Given the description of an element on the screen output the (x, y) to click on. 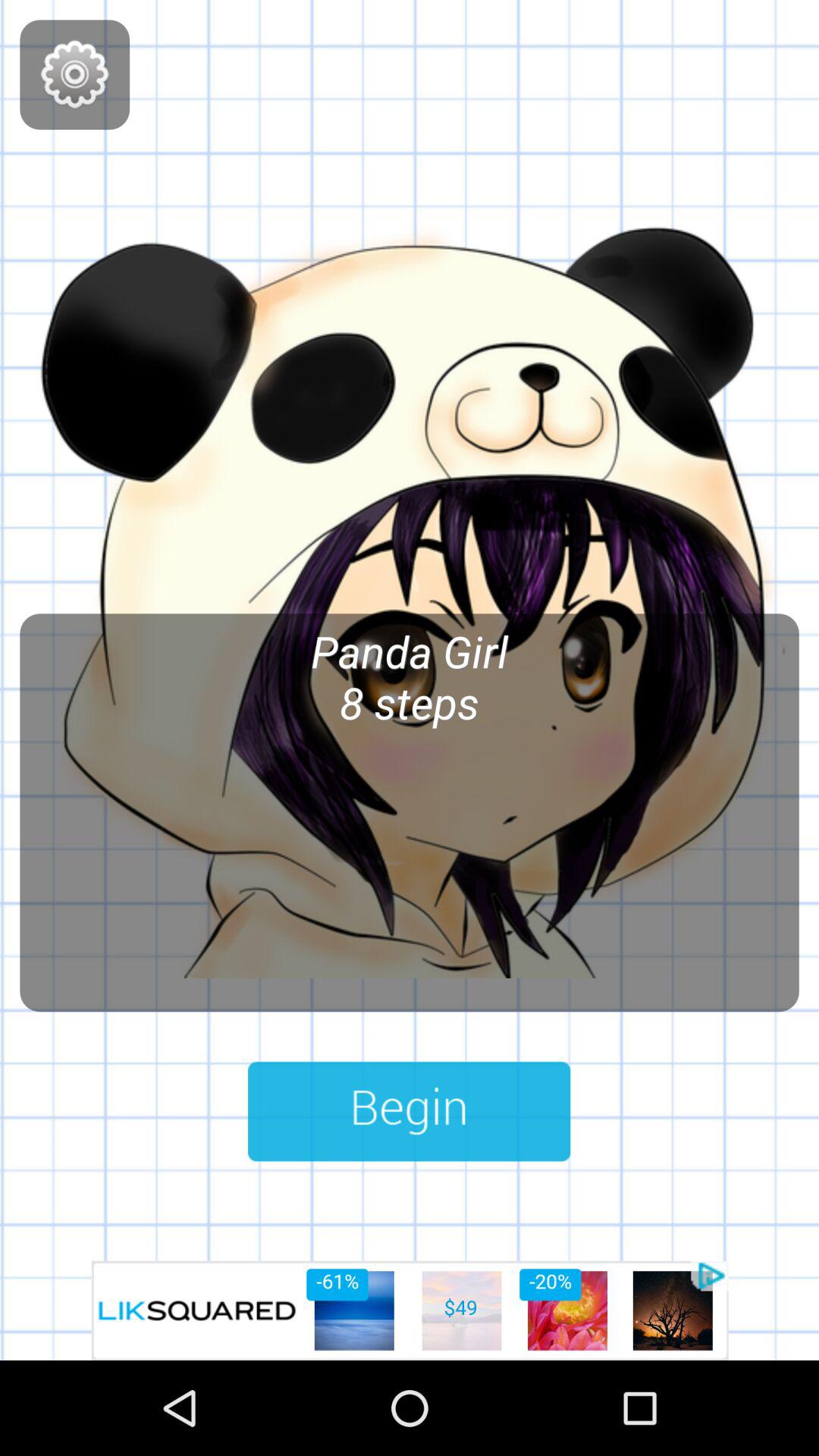
setting button (74, 74)
